Given the description of an element on the screen output the (x, y) to click on. 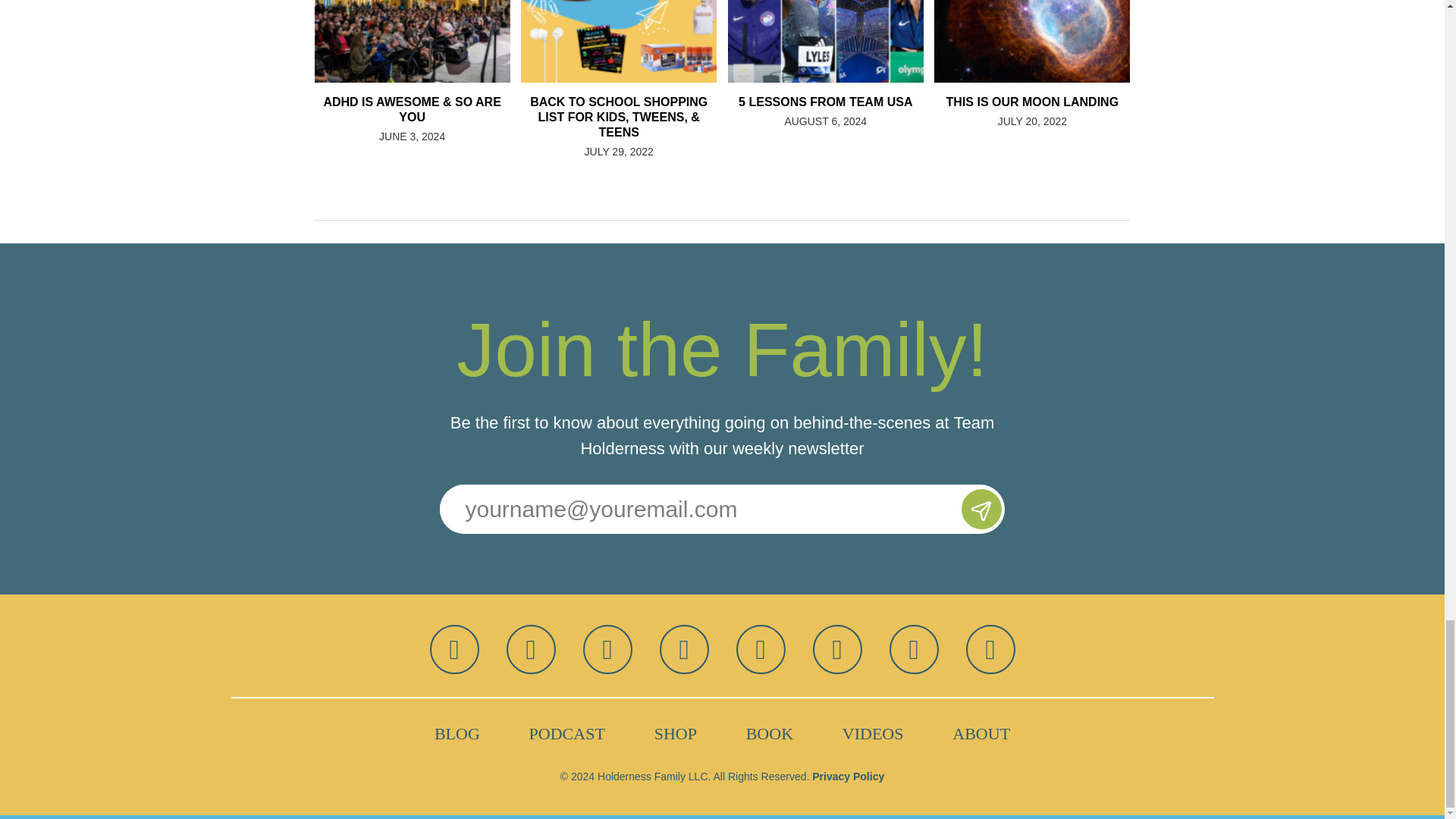
THIS IS OUR MOON LANDING (1031, 54)
This Is Our Moon Landing (1069, 41)
SEND (980, 508)
5 Lessons From Team USA (862, 41)
5 LESSONS FROM TEAM USA (825, 54)
